Given the description of an element on the screen output the (x, y) to click on. 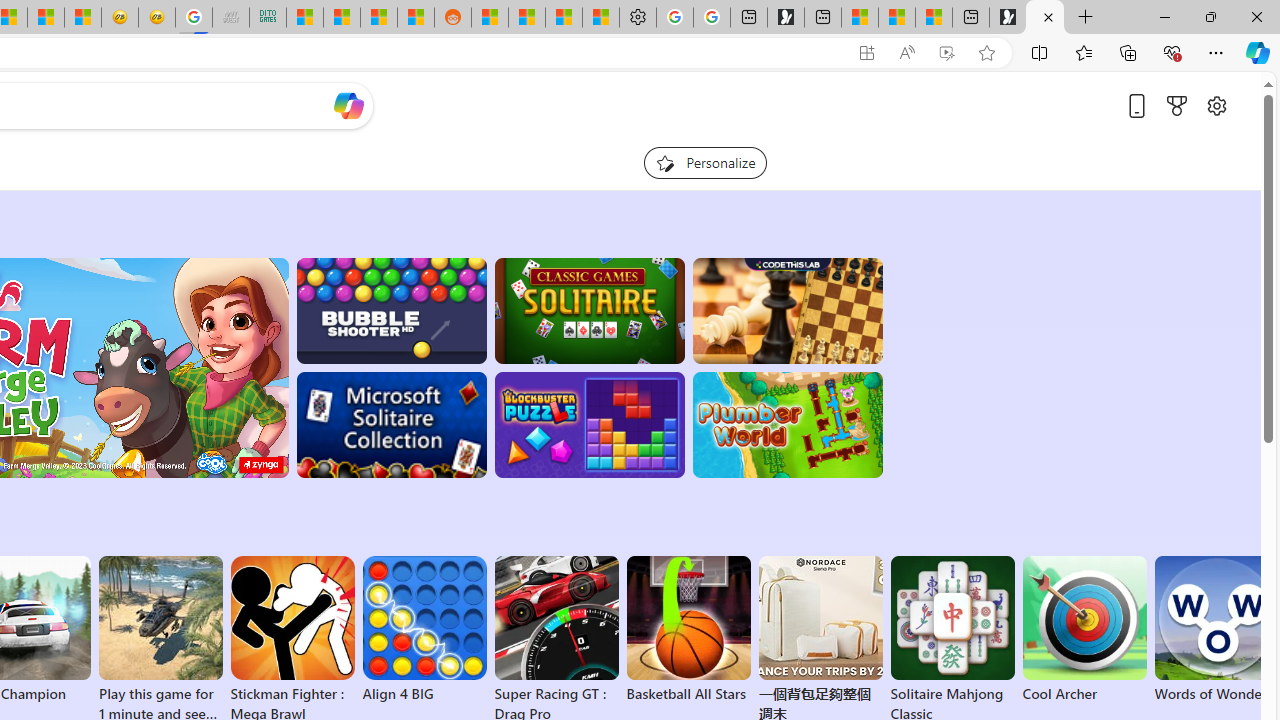
R******* | Trusted Community Engagement and Contributions (490, 17)
Words of Wonders (1216, 629)
